Given the description of an element on the screen output the (x, y) to click on. 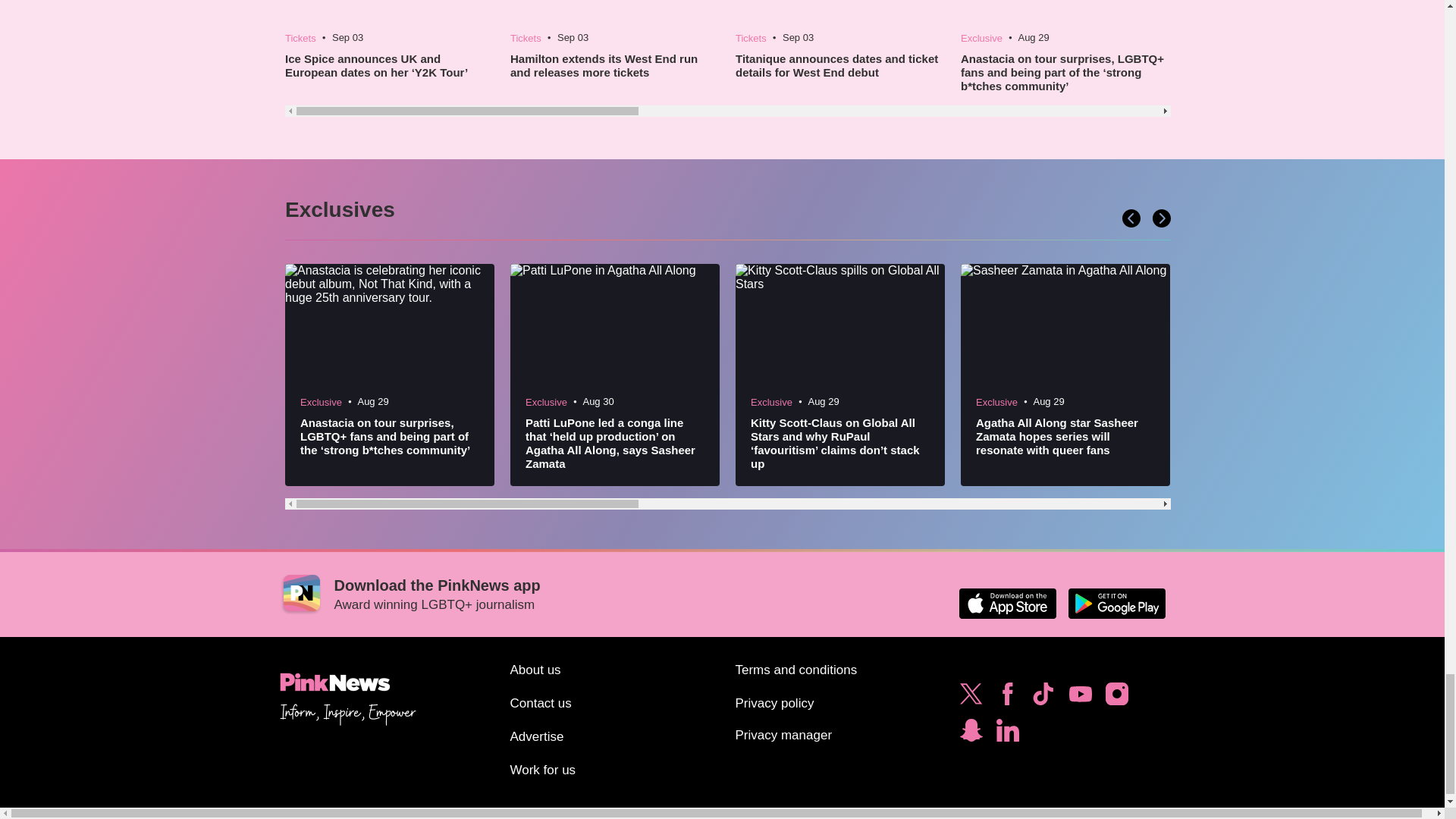
Subscribe to PinkNews on YouTube (1079, 697)
Subscribe to PinkNews on Snapchat (970, 733)
Follow PinkNews on Twitter (970, 697)
Download the PinkNews app on Google Play (1115, 603)
Follow PinkNews on TikTok (1042, 697)
Follow PinkNews on LinkedIn (1007, 733)
Follow PinkNews on Instagram (1116, 697)
Download the PinkNews app on the Apple App Store (1006, 603)
